Given the description of an element on the screen output the (x, y) to click on. 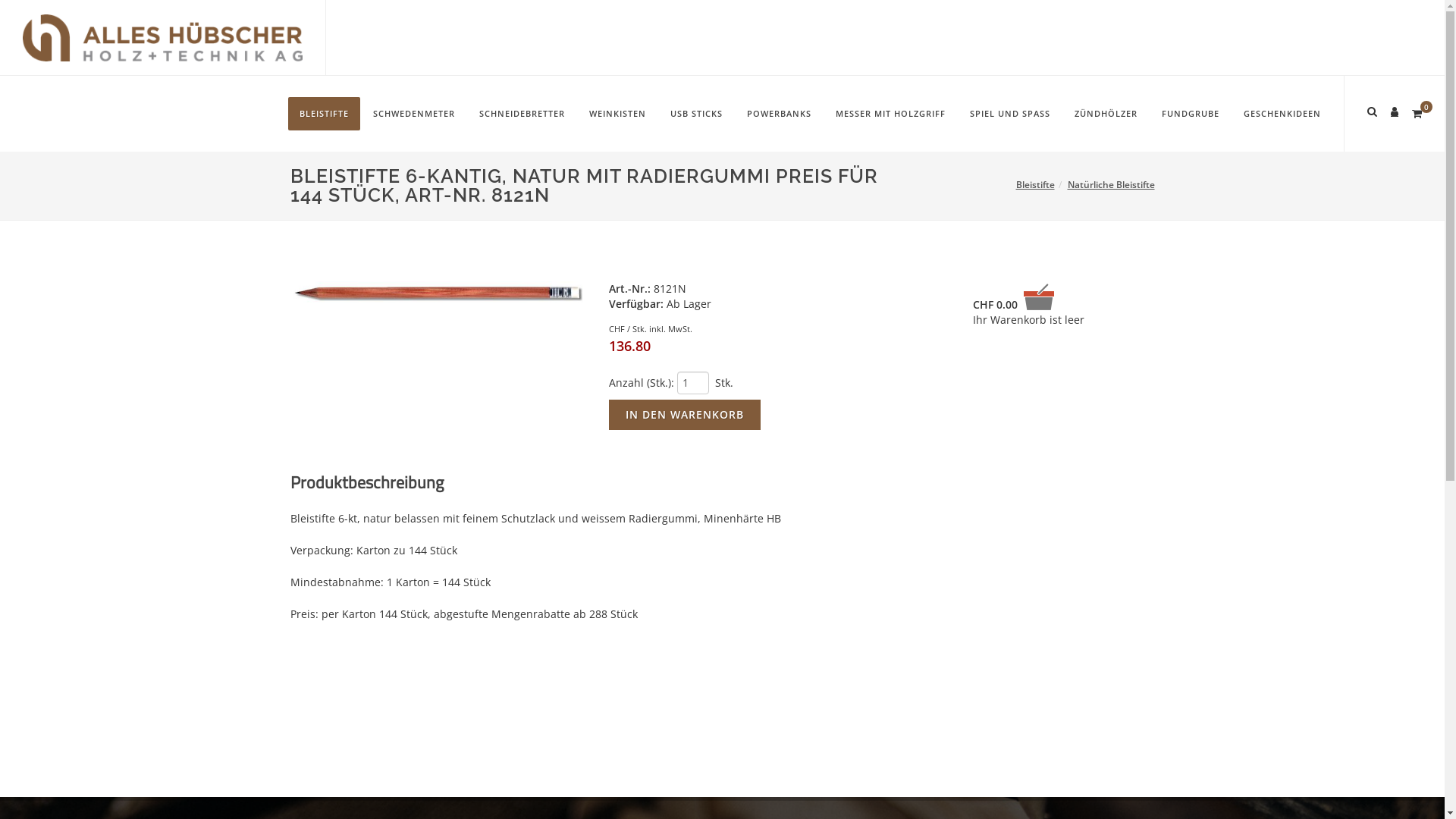
0 Element type: text (1416, 111)
WEINKISTEN Element type: text (617, 113)
In den Warenkorb Element type: text (684, 414)
SCHWEDENMETER Element type: text (413, 113)
GESCHENKIDEEN Element type: text (1282, 113)
SCHNEIDEBRETTER Element type: text (521, 113)
FUNDGRUBE Element type: text (1190, 113)
POWERBANKS Element type: text (778, 113)
SPIEL UND SPASS Element type: text (1009, 113)
BLEISTIFTE Element type: text (324, 113)
Bleistift 6-kt mit Gummi Element type: hover (435, 293)
Bleistifte Element type: text (1035, 184)
MESSER MIT HOLZGRIFF Element type: text (890, 113)
USB STICKS Element type: text (696, 113)
